Given the description of an element on the screen output the (x, y) to click on. 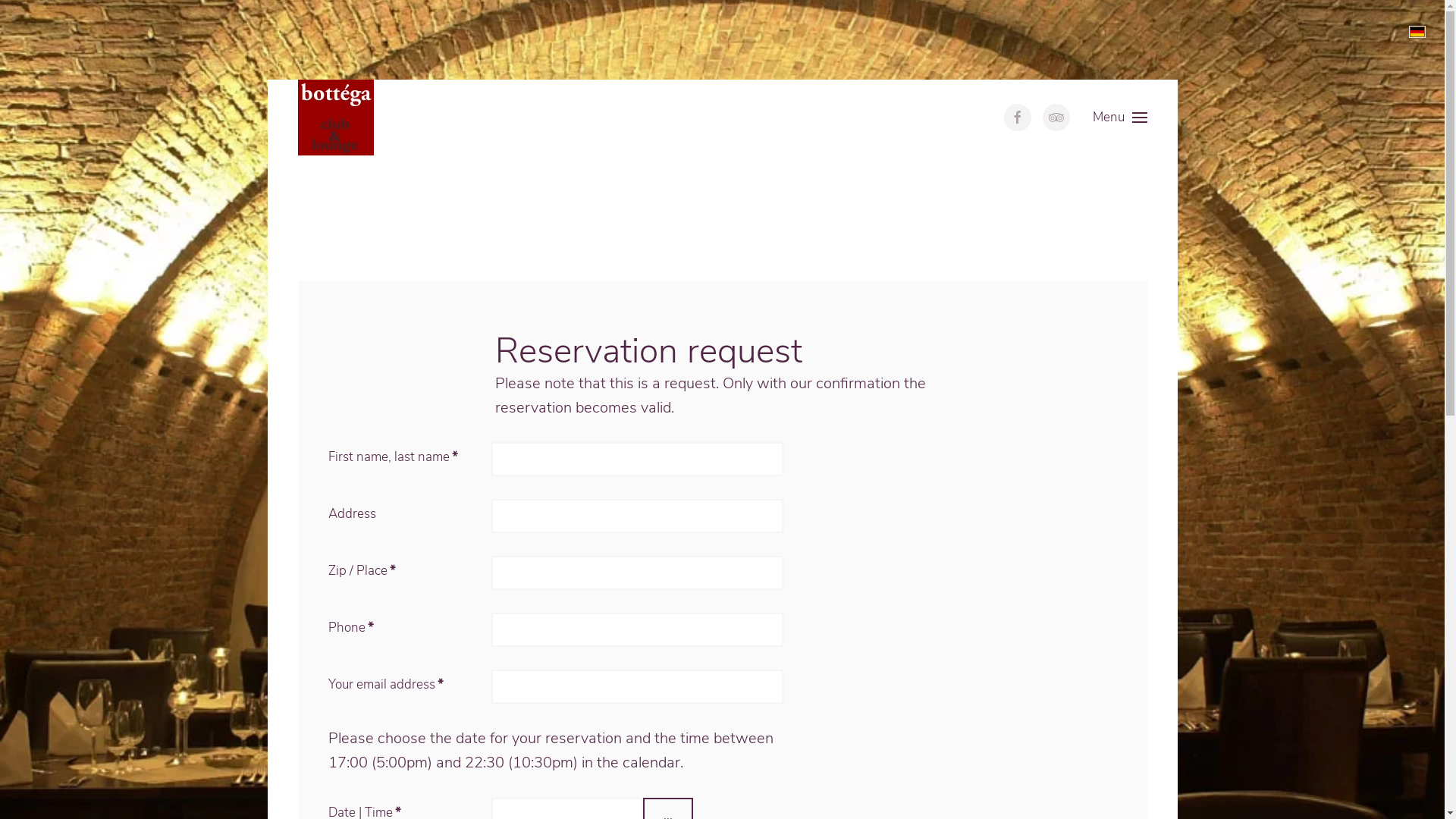
Ok Element type: text (1132, 39)
Nein, Danke Element type: text (1227, 39)
Deutsch Element type: hover (1416, 31)
